Given the description of an element on the screen output the (x, y) to click on. 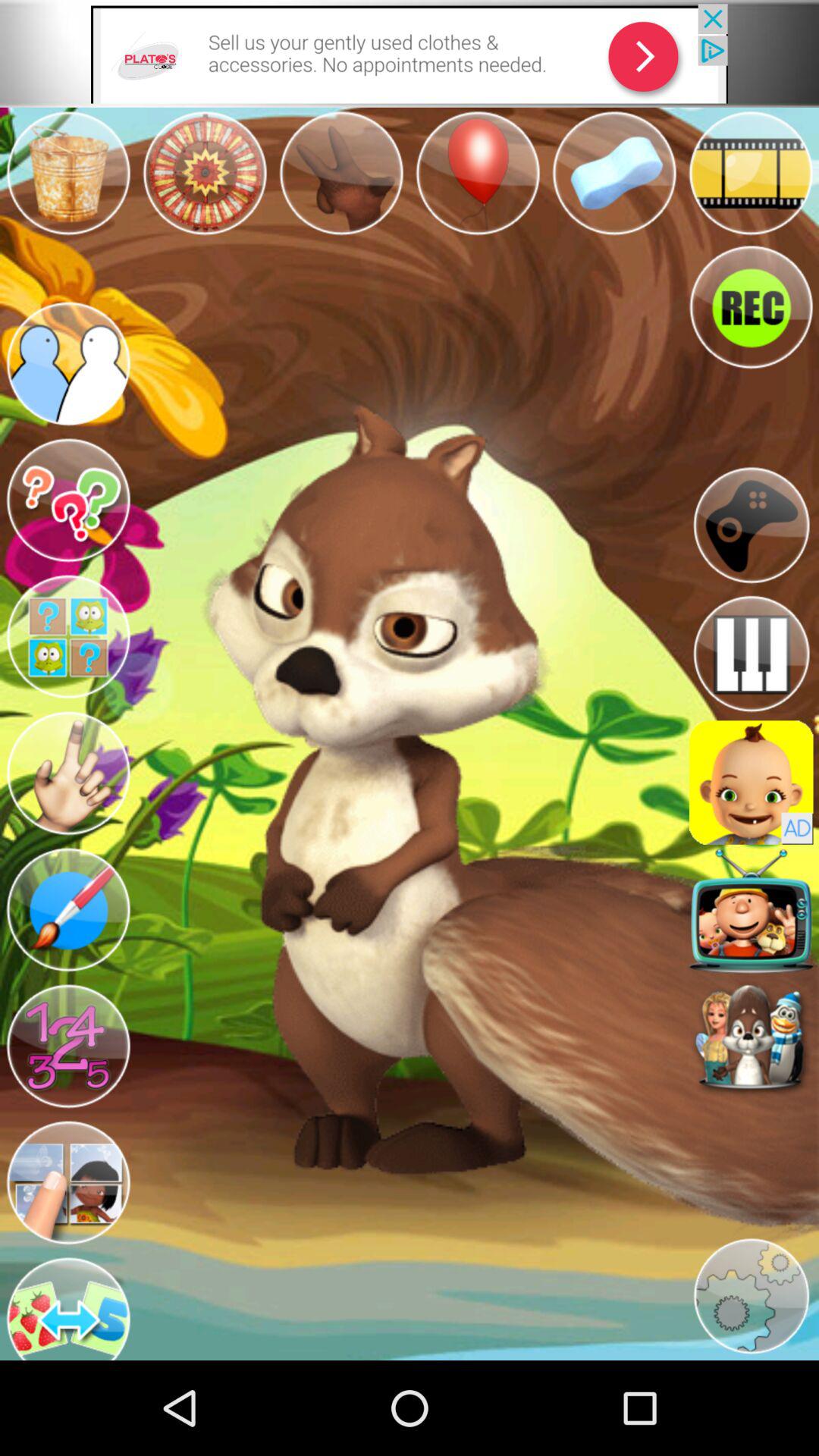
character question (68, 636)
